Given the description of an element on the screen output the (x, y) to click on. 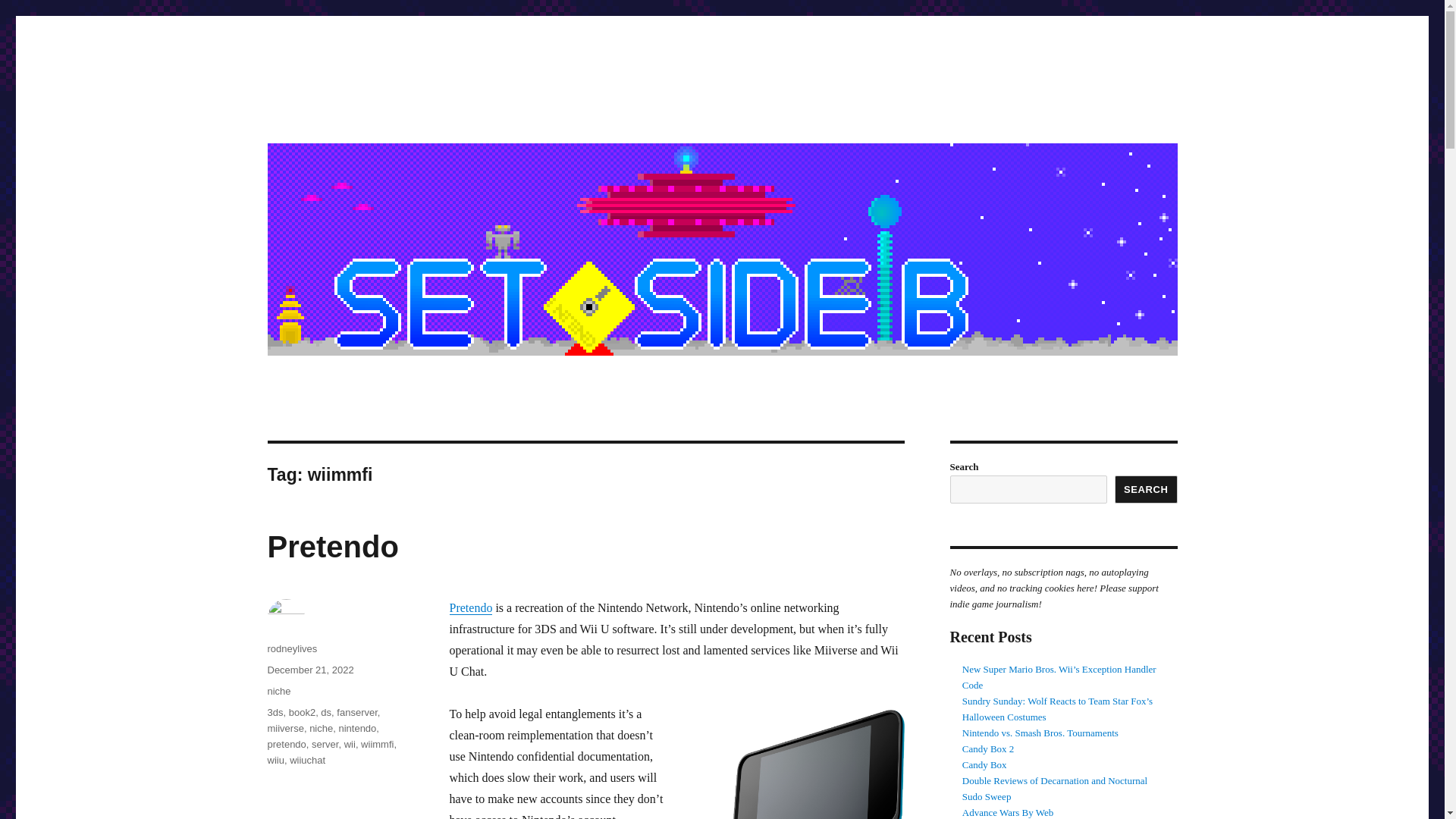
fanserver (356, 712)
3ds (274, 712)
December 21, 2022 (309, 669)
Pretendo (470, 607)
Advance Wars By Web (1008, 812)
niche (320, 727)
rodneylives (291, 648)
ds (325, 712)
book2 (301, 712)
miiverse (284, 727)
